Given the description of an element on the screen output the (x, y) to click on. 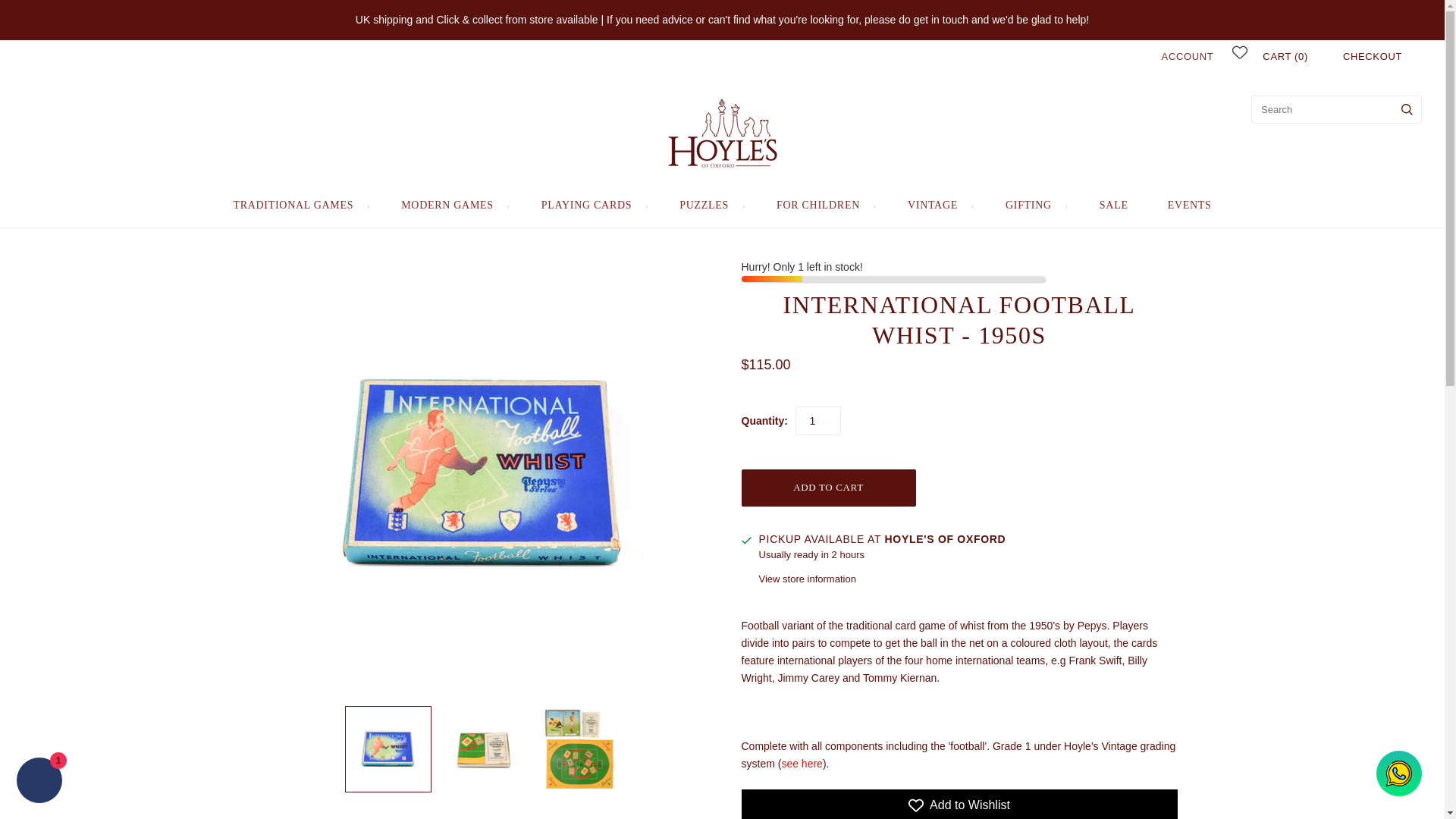
1 (817, 420)
ACCOUNT (1187, 56)
Add to cart (828, 487)
CHECKOUT (1372, 56)
Shopify online store chat (38, 781)
